Given the description of an element on the screen output the (x, y) to click on. 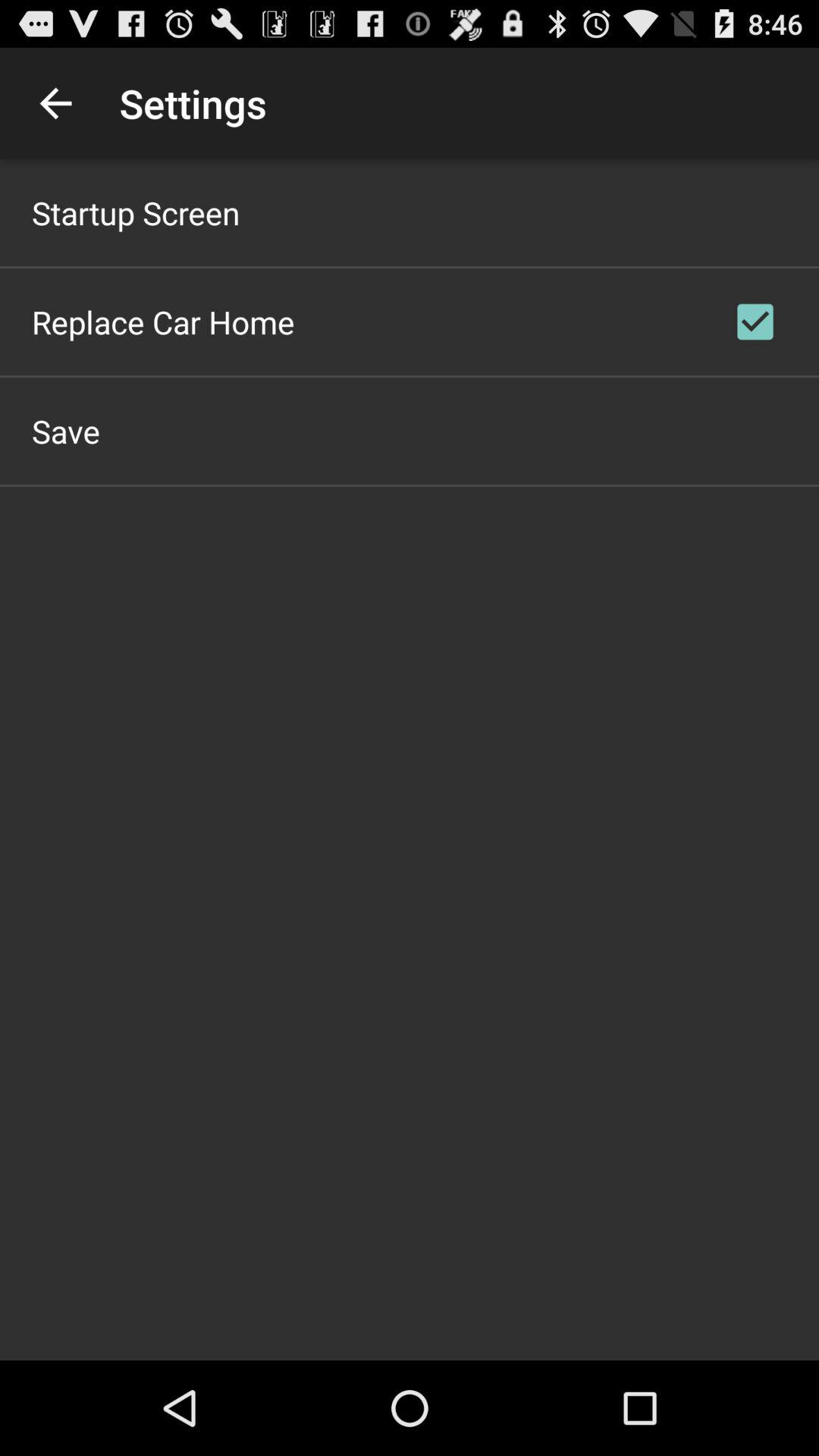
tap icon above the startup screen icon (55, 103)
